Given the description of an element on the screen output the (x, y) to click on. 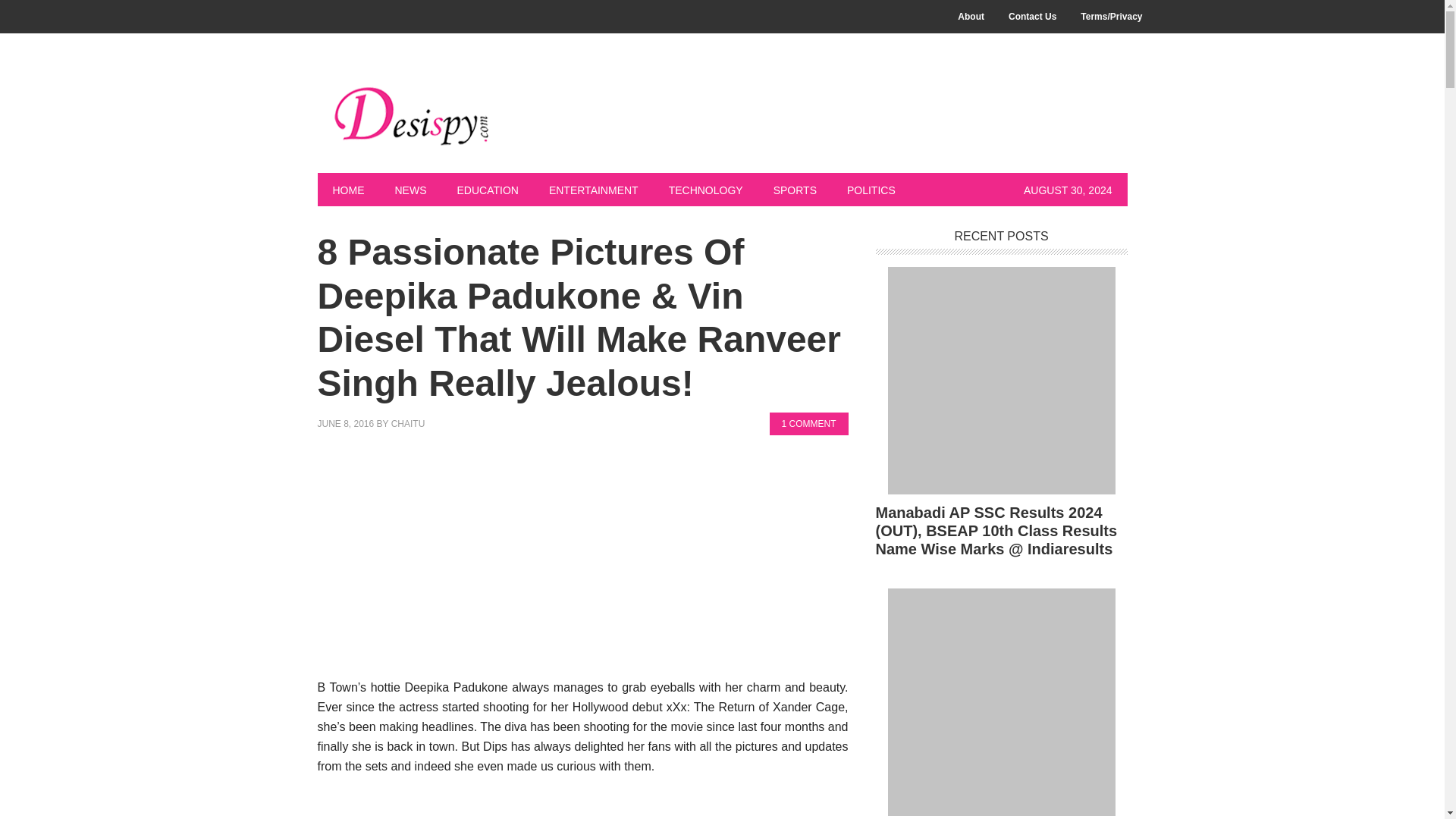
DESISPY.COM (419, 115)
Advertisement (582, 807)
Contact Us (1031, 16)
Advertisement (582, 563)
About (969, 16)
NEWS (409, 189)
POLITICS (871, 189)
EDUCATION (486, 189)
HOME (347, 189)
